Given the description of an element on the screen output the (x, y) to click on. 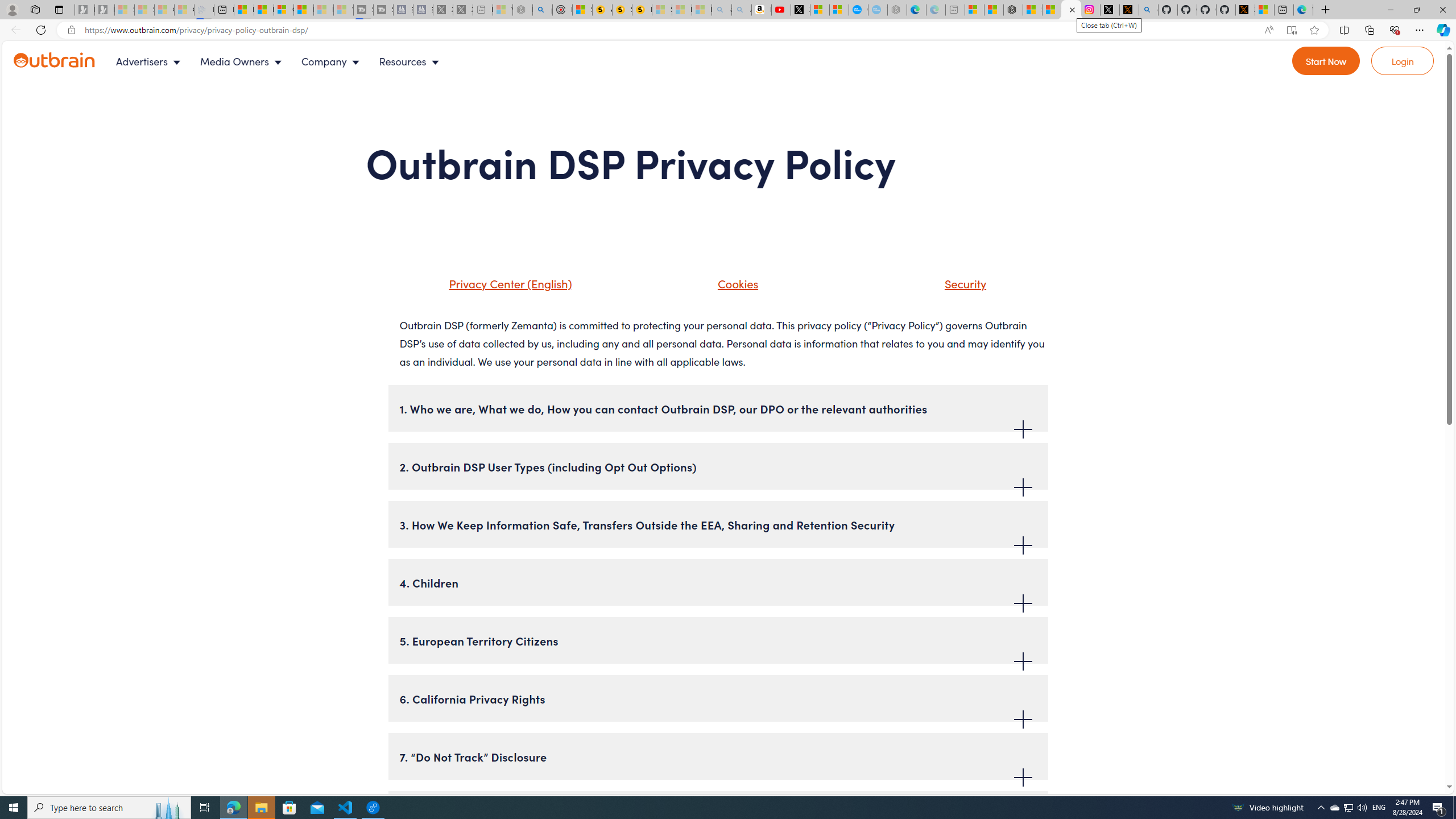
Privacy Center (English) (495, 287)
Day 1: Arriving in Yemen (surreal to be here) - YouTube (780, 9)
Wildlife - MSN - Sleeping (501, 9)
Microsoft Start - Sleeping (322, 9)
2. Outbrain DSP User Types (including Opt Out Options) (717, 466)
Michelle Starr, Senior Journalist at ScienceAlert (641, 9)
